Given the description of an element on the screen output the (x, y) to click on. 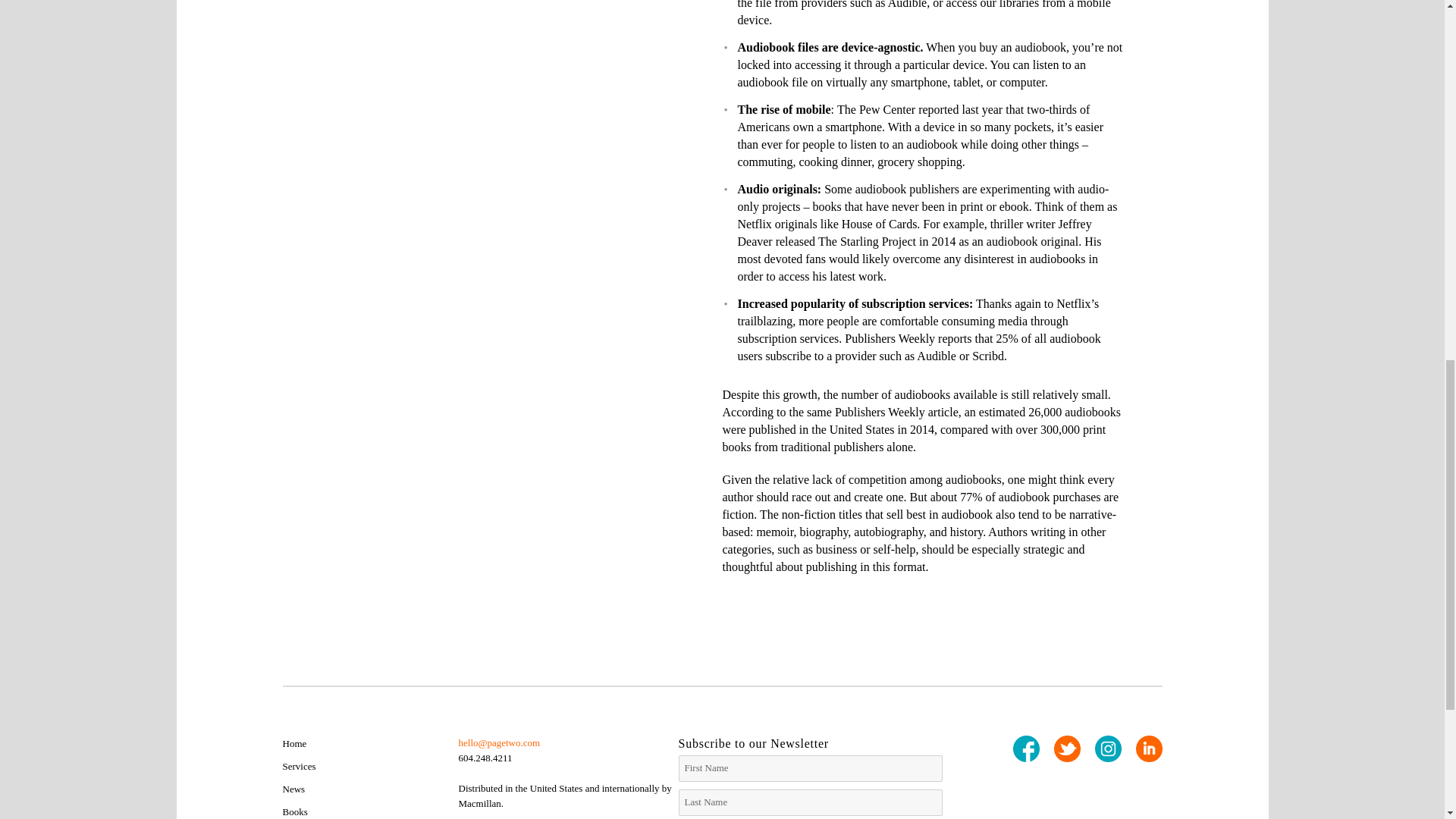
The Starling Project (866, 241)
Services (298, 766)
Books (294, 811)
News (293, 788)
Home (293, 743)
The Pew Center reported last year (920, 109)
